Given the description of an element on the screen output the (x, y) to click on. 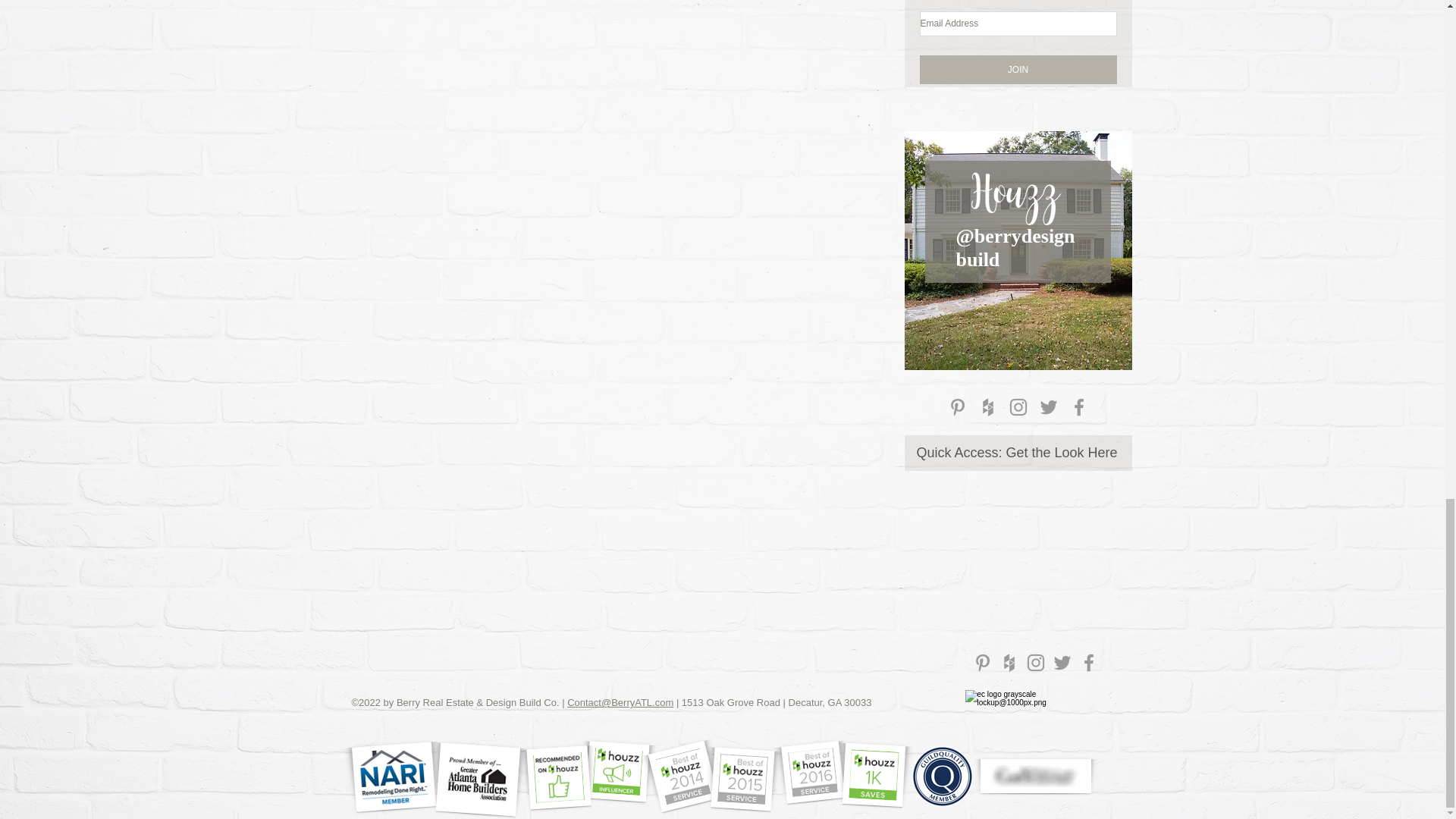
JOIN (1017, 69)
